Given the description of an element on the screen output the (x, y) to click on. 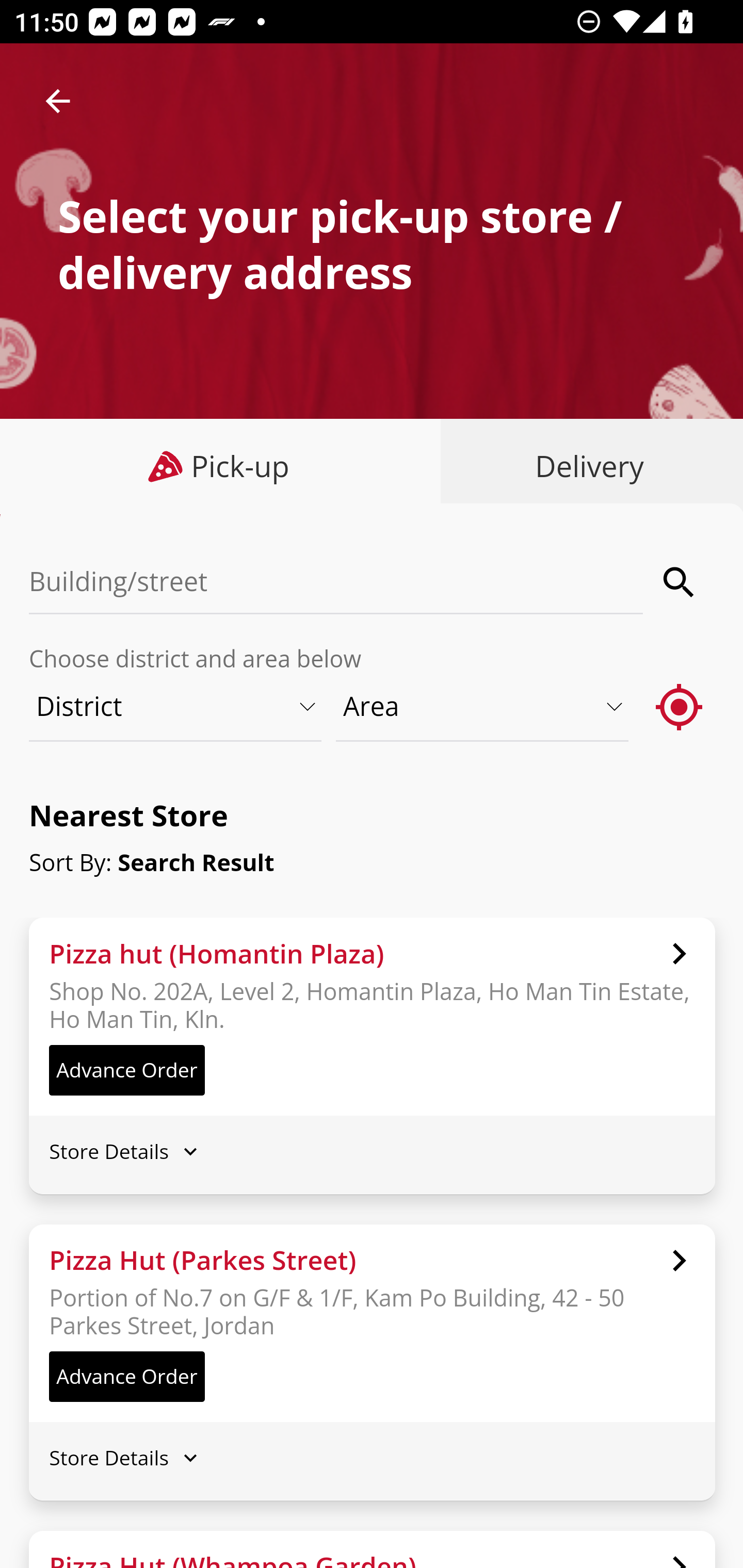
arrow_back (58, 100)
Pick-up (221, 466)
Delivery (585, 466)
search (679, 582)
gps_fixed (679, 706)
District (175, 706)
Area (482, 706)
Store Details (371, 1149)
Store Details (371, 1457)
